Given the description of an element on the screen output the (x, y) to click on. 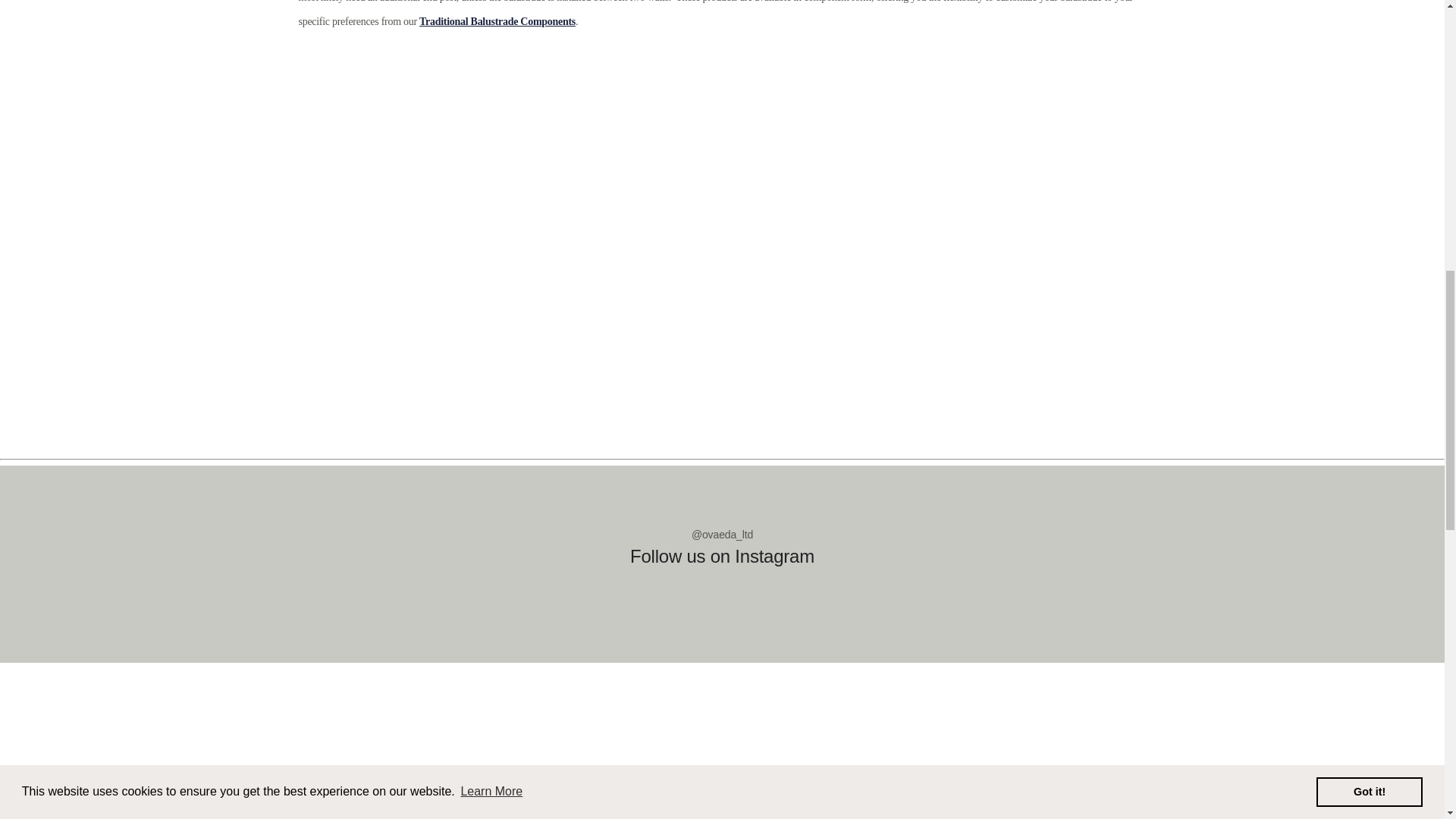
Traditional Composite Balustrades (497, 21)
